Given the description of an element on the screen output the (x, y) to click on. 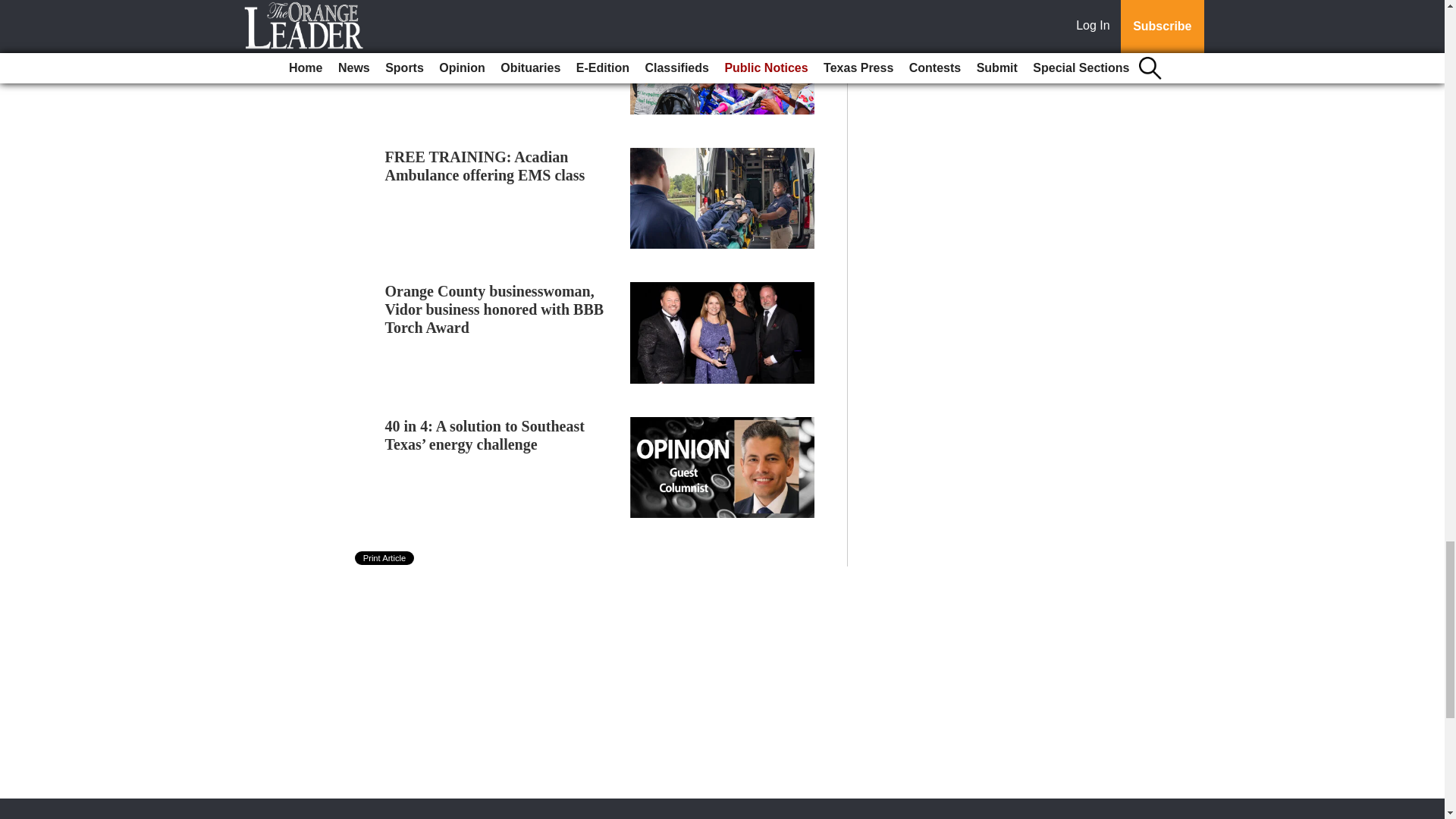
GALLERY: Golden Triangle supports local youth programs (484, 31)
FREE TRAINING: Acadian Ambulance offering EMS class (485, 165)
FREE TRAINING: Acadian Ambulance offering EMS class (485, 165)
Print Article (384, 558)
GALLERY: Golden Triangle supports local youth programs (484, 31)
